Given the description of an element on the screen output the (x, y) to click on. 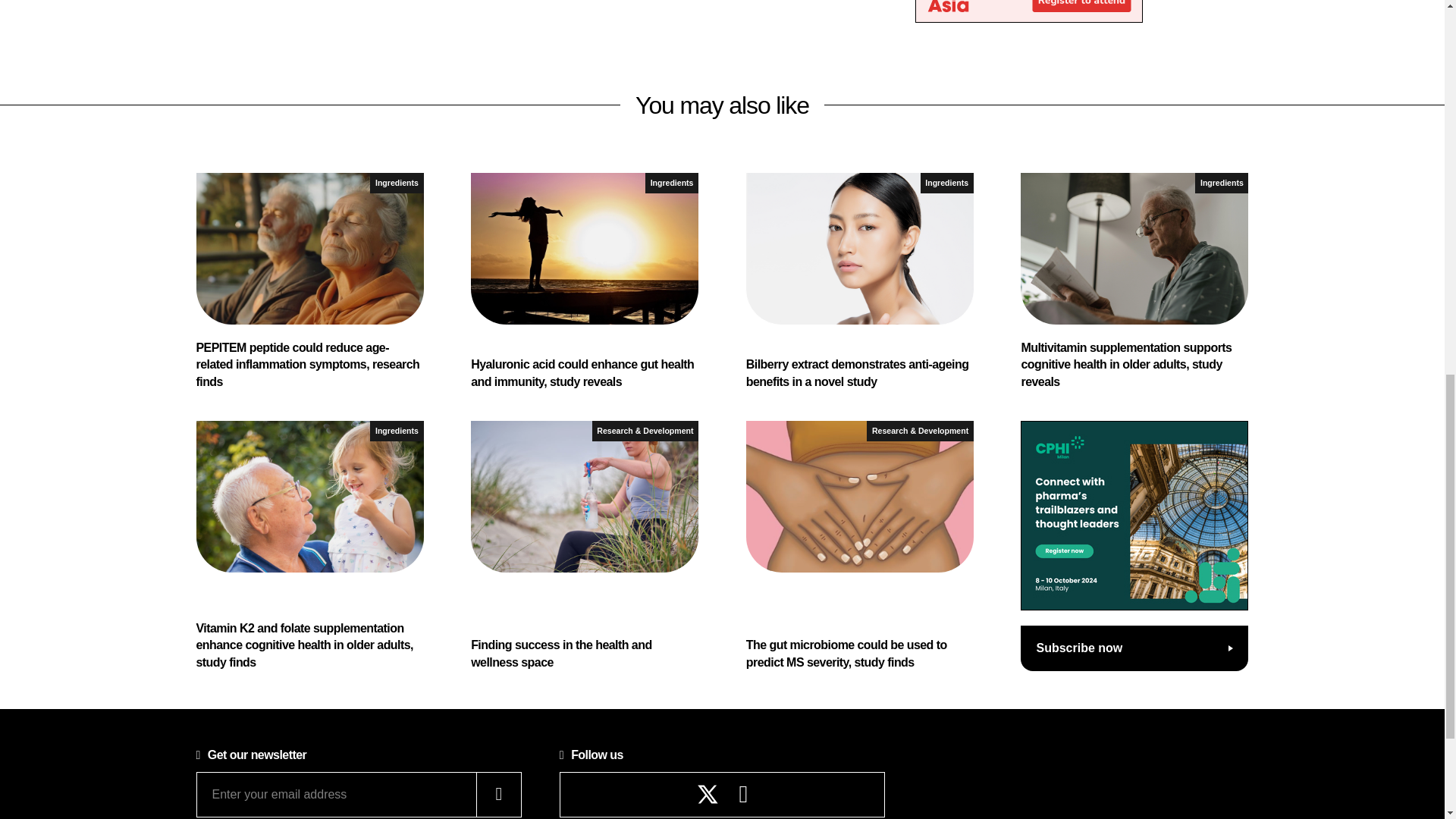
Ingredients (396, 430)
Ingredients (671, 182)
Finding success in the health and wellness space (584, 545)
Follow Nutraceutical Business Review on X (708, 793)
Ingredients (947, 182)
Ingredients (396, 182)
Ingredients (1221, 182)
